Given the description of an element on the screen output the (x, y) to click on. 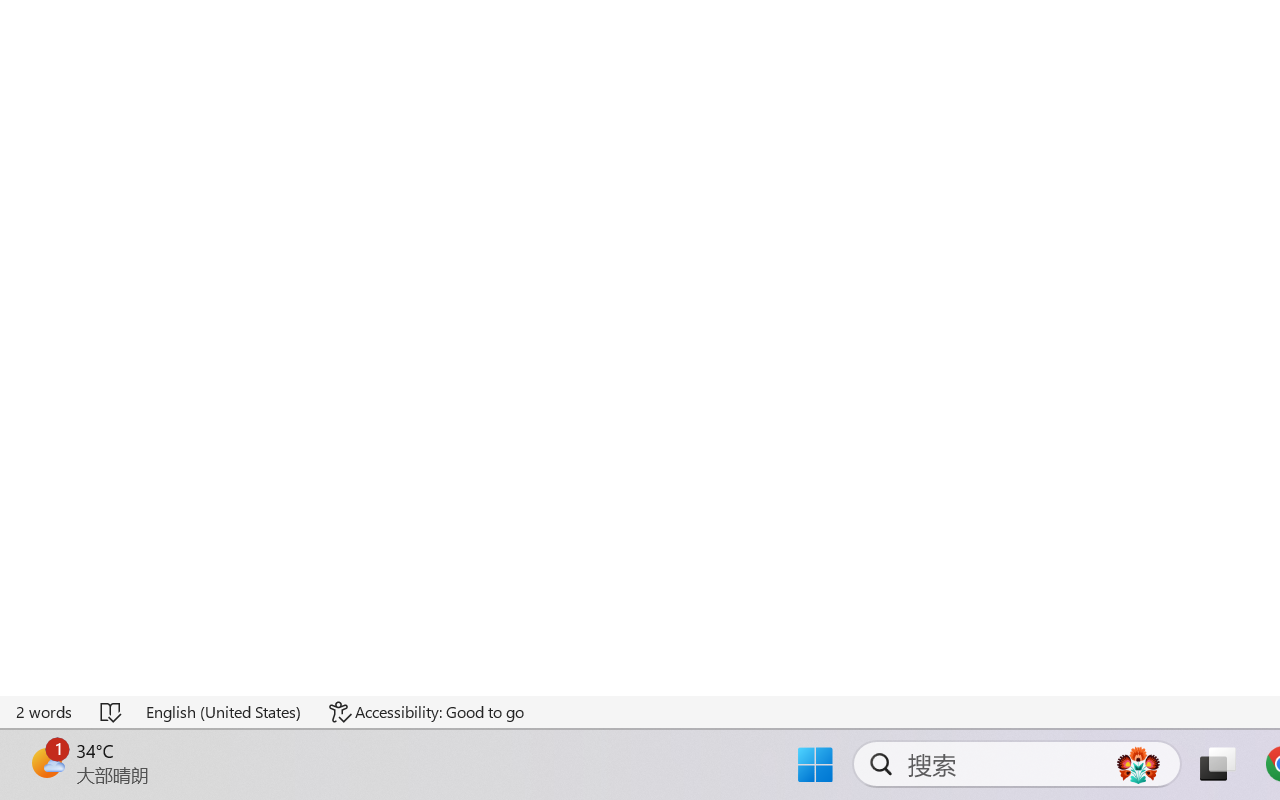
Accessibility Checker Accessibility: Good to go (397, 743)
